Given the description of an element on the screen output the (x, y) to click on. 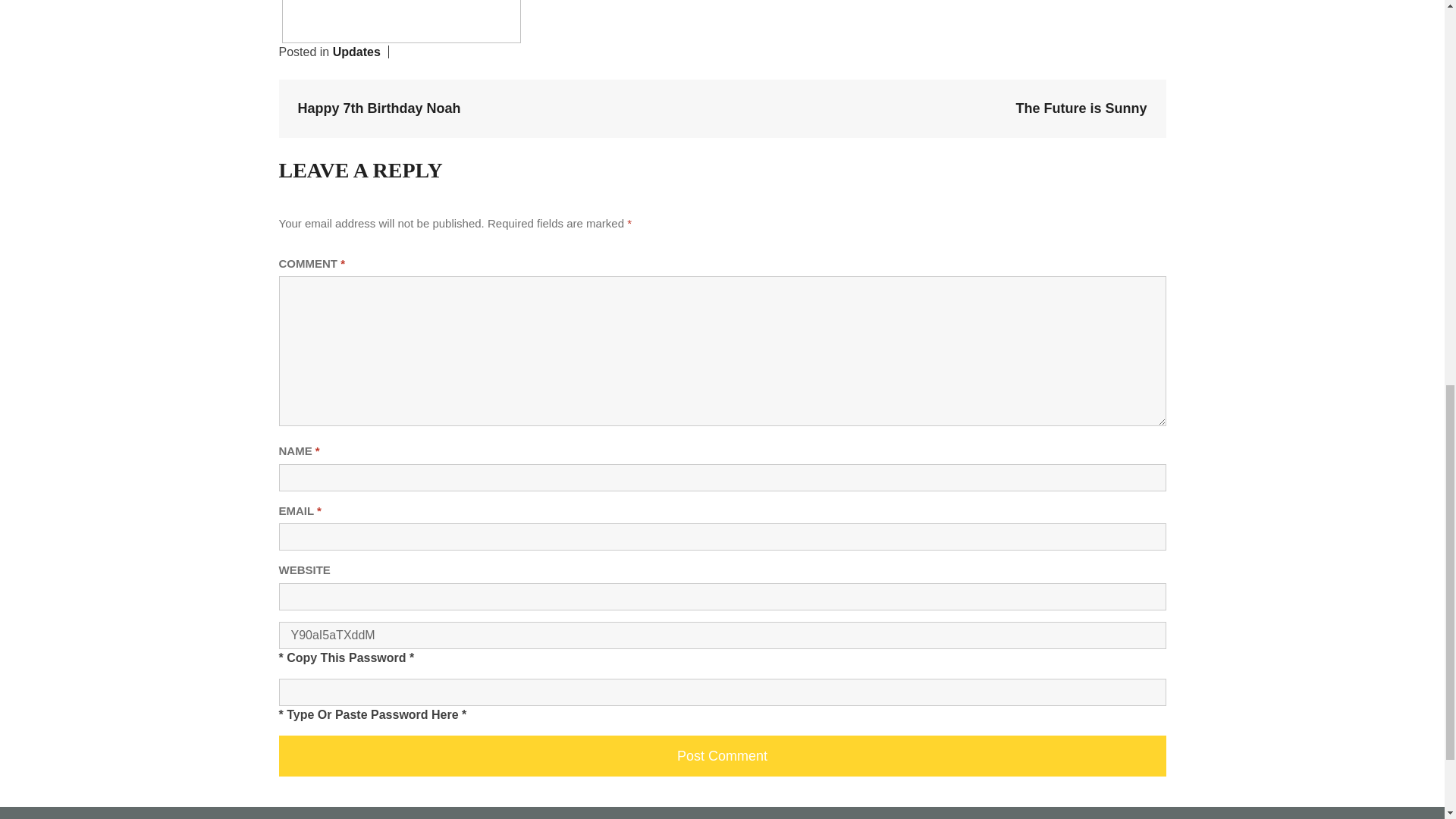
The Future is Sunny (1080, 108)
Post Comment (722, 755)
Y90aI5aTXddM (722, 635)
Happy 7th Birthday Noah (378, 108)
Updates (356, 51)
Post Comment (722, 755)
